Given the description of an element on the screen output the (x, y) to click on. 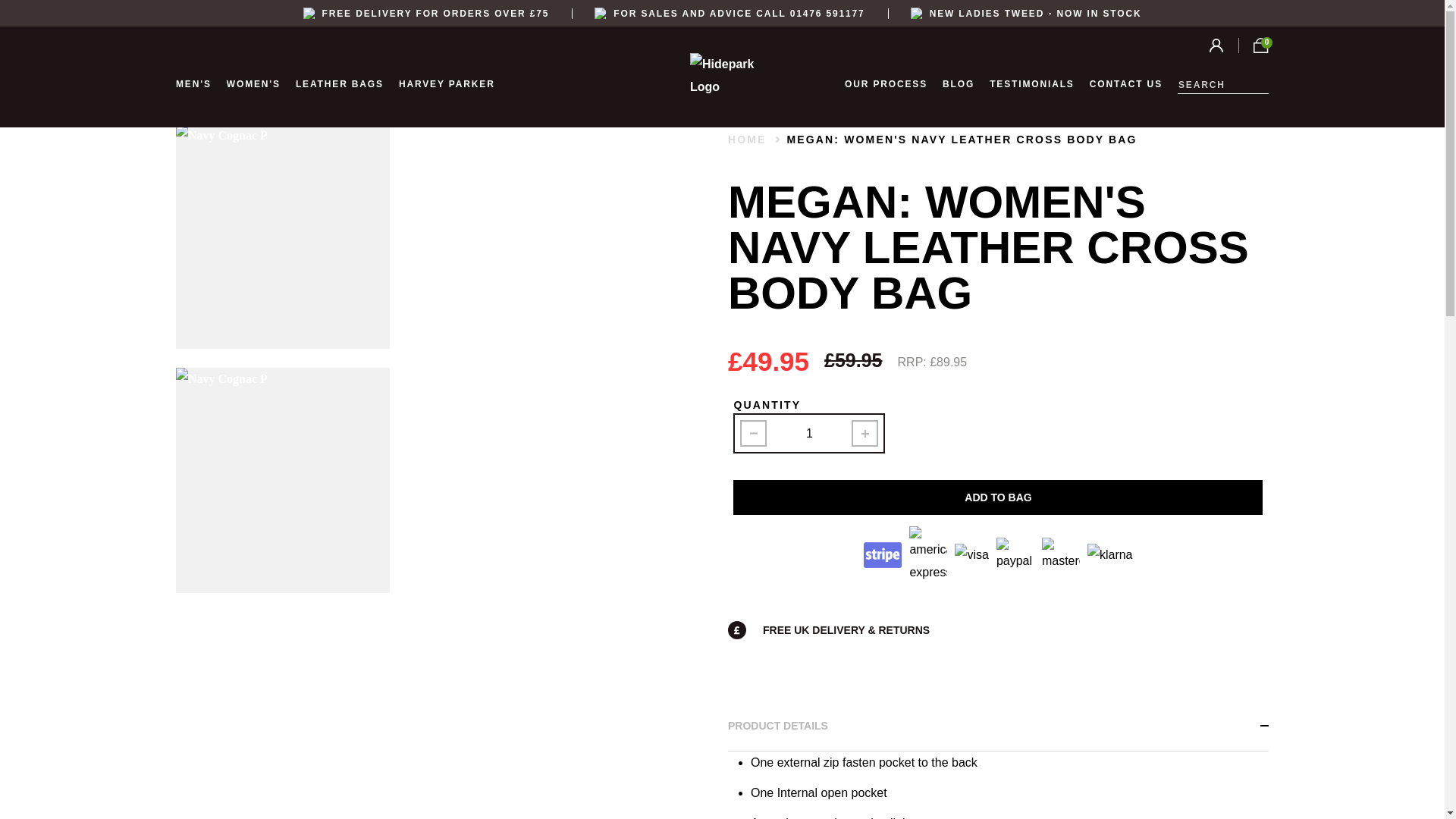
BLOG (958, 83)
OUR PROCESS (885, 83)
NEW LADIES TWEED - NOW IN STOCK (1026, 12)
1 (809, 433)
TESTIMONIALS (1032, 83)
LEATHER BAGS (339, 83)
FOR SALES AND ADVICE CALL 01476 591177 (729, 12)
MEN'S (193, 83)
CONTACT US (1125, 83)
Home (747, 138)
